Given the description of an element on the screen output the (x, y) to click on. 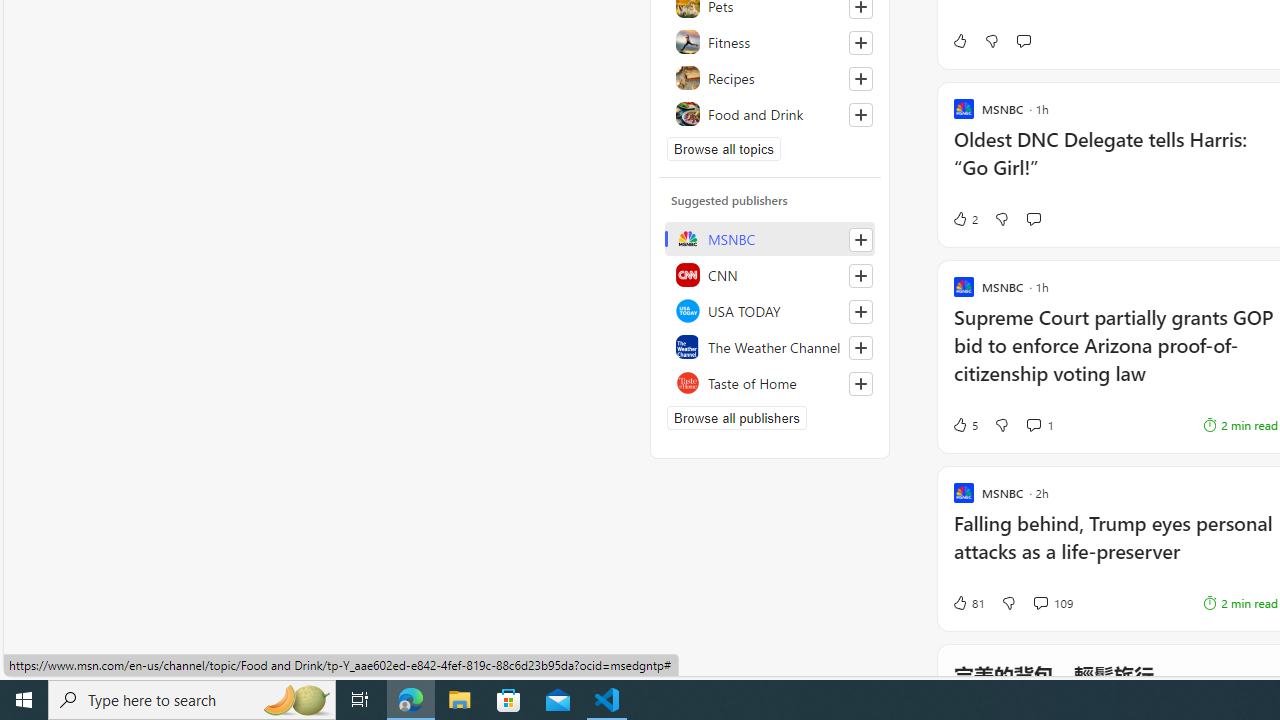
Browse all topics (724, 148)
Like (959, 40)
View comments 109 Comment (1052, 602)
Taste of Home (770, 382)
Follow this topic (860, 114)
USA TODAY (770, 310)
View comments 109 Comment (1040, 602)
Follow this source (860, 384)
MSNBC (770, 238)
2 Like (964, 219)
